Given the description of an element on the screen output the (x, y) to click on. 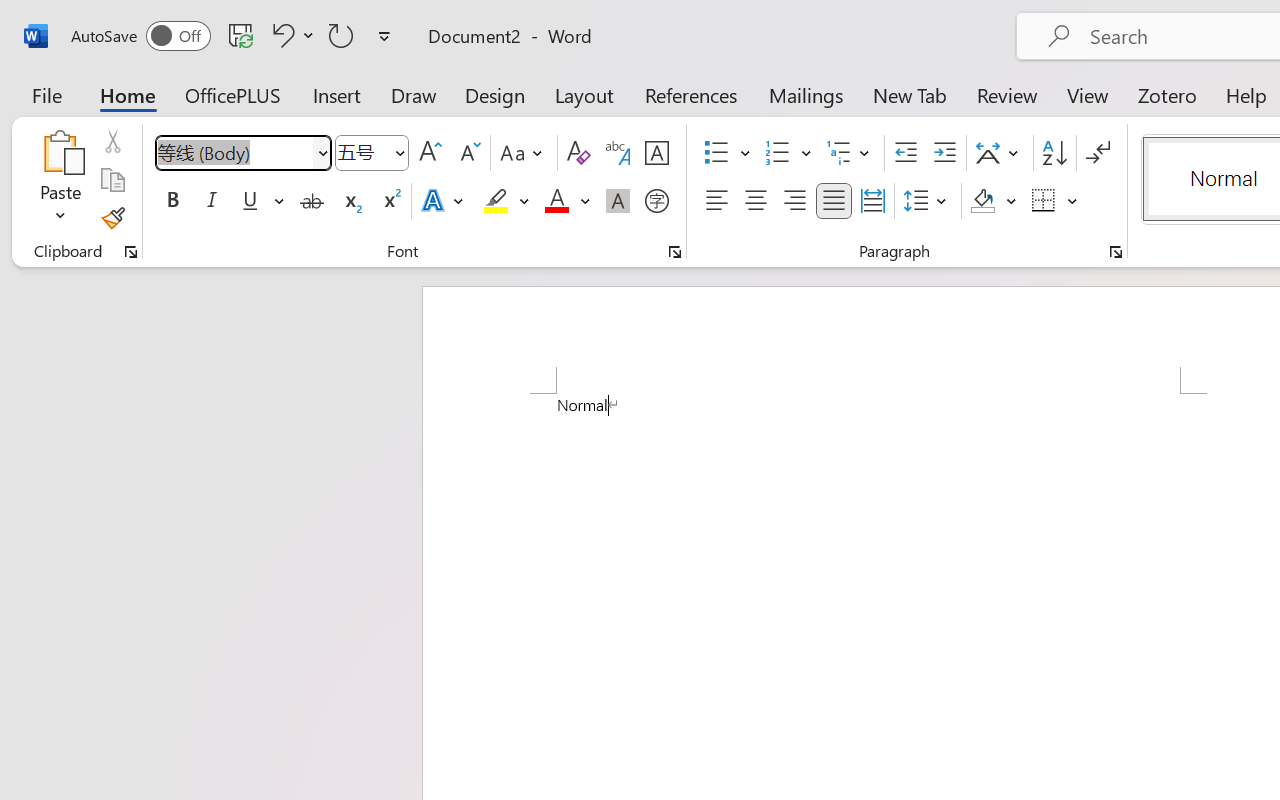
Show/Hide Editing Marks (1098, 153)
File Tab (46, 94)
Copy (112, 179)
Shading (993, 201)
OfficePLUS (233, 94)
Phonetic Guide... (618, 153)
Sort... (1054, 153)
Align Left (716, 201)
Office Clipboard... (131, 252)
Format Painter (112, 218)
Change Case (524, 153)
Design (495, 94)
Bullets (716, 153)
Character Border (656, 153)
